Given the description of an element on the screen output the (x, y) to click on. 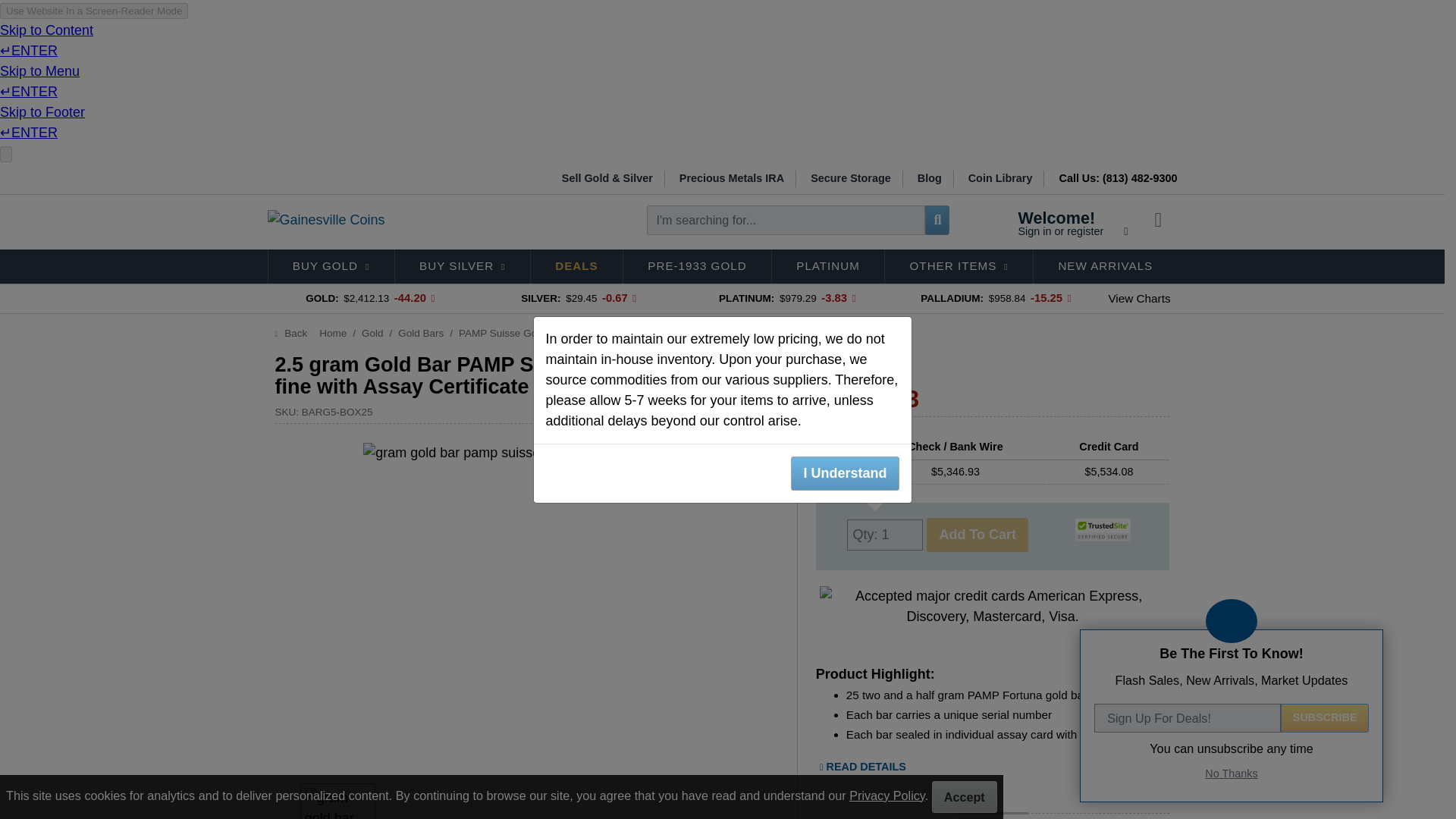
Gold Bars (420, 333)
Precious Metals IRA (732, 178)
Gold (372, 333)
Newsletter Signup (1235, 621)
Blog (1071, 223)
PAMP Suisse Gold Bars (929, 178)
Secure Storage (513, 333)
Secure Checkout (850, 178)
BUY GOLD (1102, 529)
Coin Library (330, 266)
BUY SILVER (1000, 178)
Subscribe (461, 266)
